Given the description of an element on the screen output the (x, y) to click on. 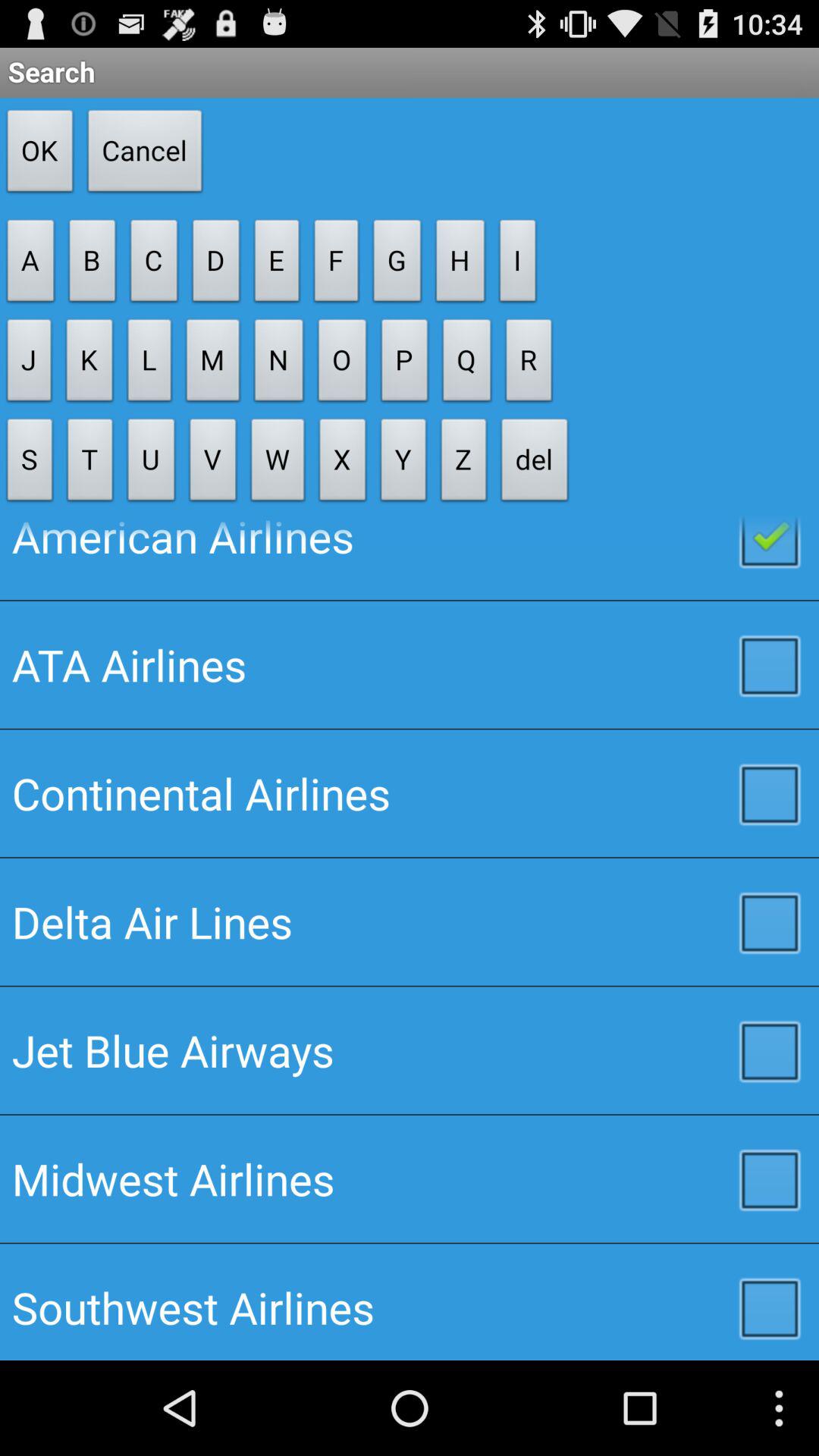
scroll until the delta air lines checkbox (409, 921)
